Given the description of an element on the screen output the (x, y) to click on. 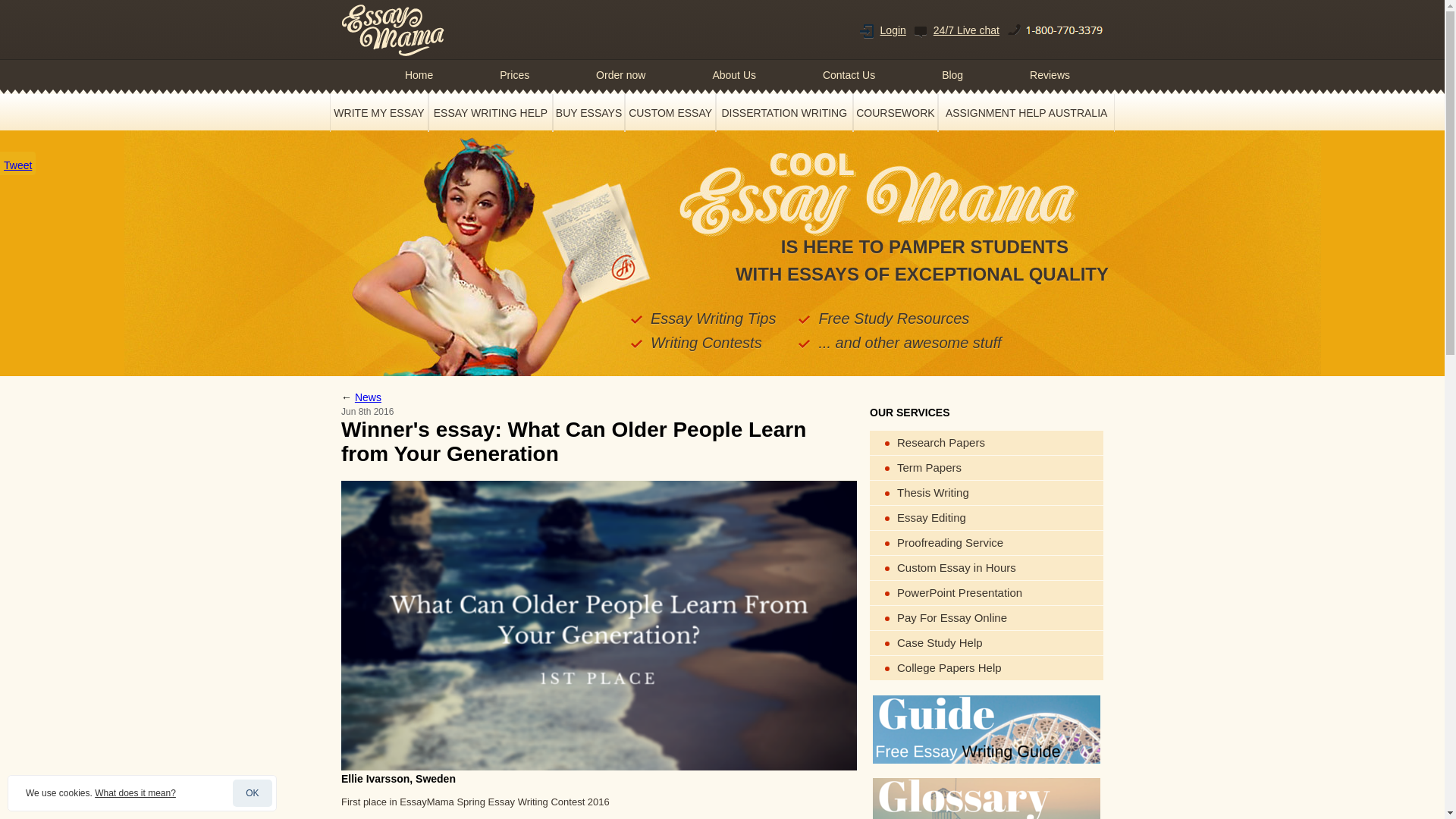
Contact Us (848, 74)
Login (892, 30)
Proofreading Service (986, 542)
WRITE MY ESSAY (379, 112)
Research Papers (986, 442)
Home (419, 74)
ASSIGNMENT HELP AUSTRALIA (1026, 112)
College Papers Help (986, 668)
We use cookies to improve your experience with our site (135, 792)
DISSERTATION WRITING (784, 112)
